Given the description of an element on the screen output the (x, y) to click on. 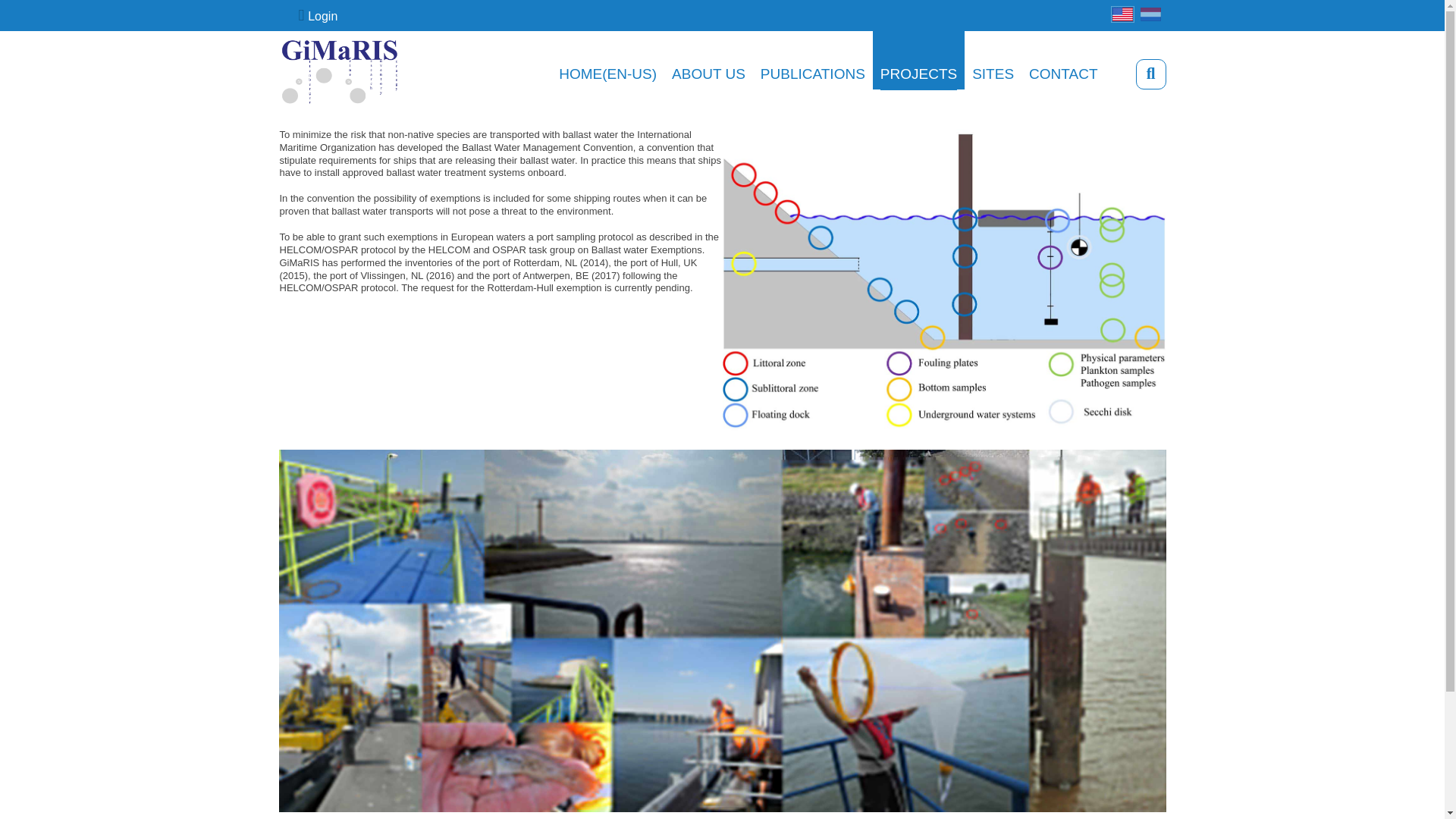
SITES (992, 73)
CONTACT (1063, 73)
PROJECTS (918, 73)
ABOUT US (708, 73)
Login (317, 15)
gimaris (340, 72)
Login (317, 15)
PUBLICATIONS (812, 73)
